Given the description of an element on the screen output the (x, y) to click on. 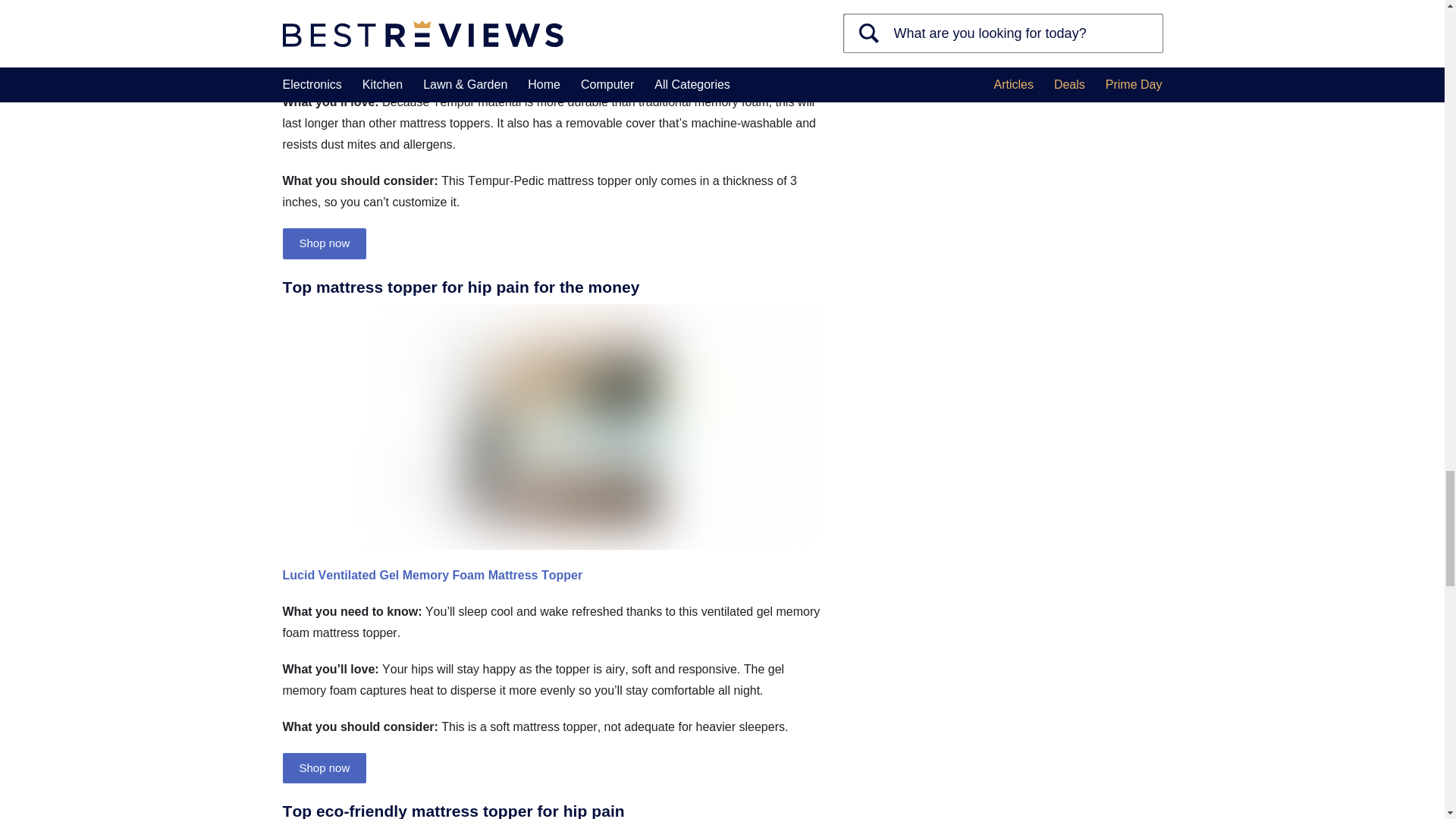
Tempur-Pedic Tempur Supreme Mattress Topper (423, 7)
Shop now (324, 243)
